Given the description of an element on the screen output the (x, y) to click on. 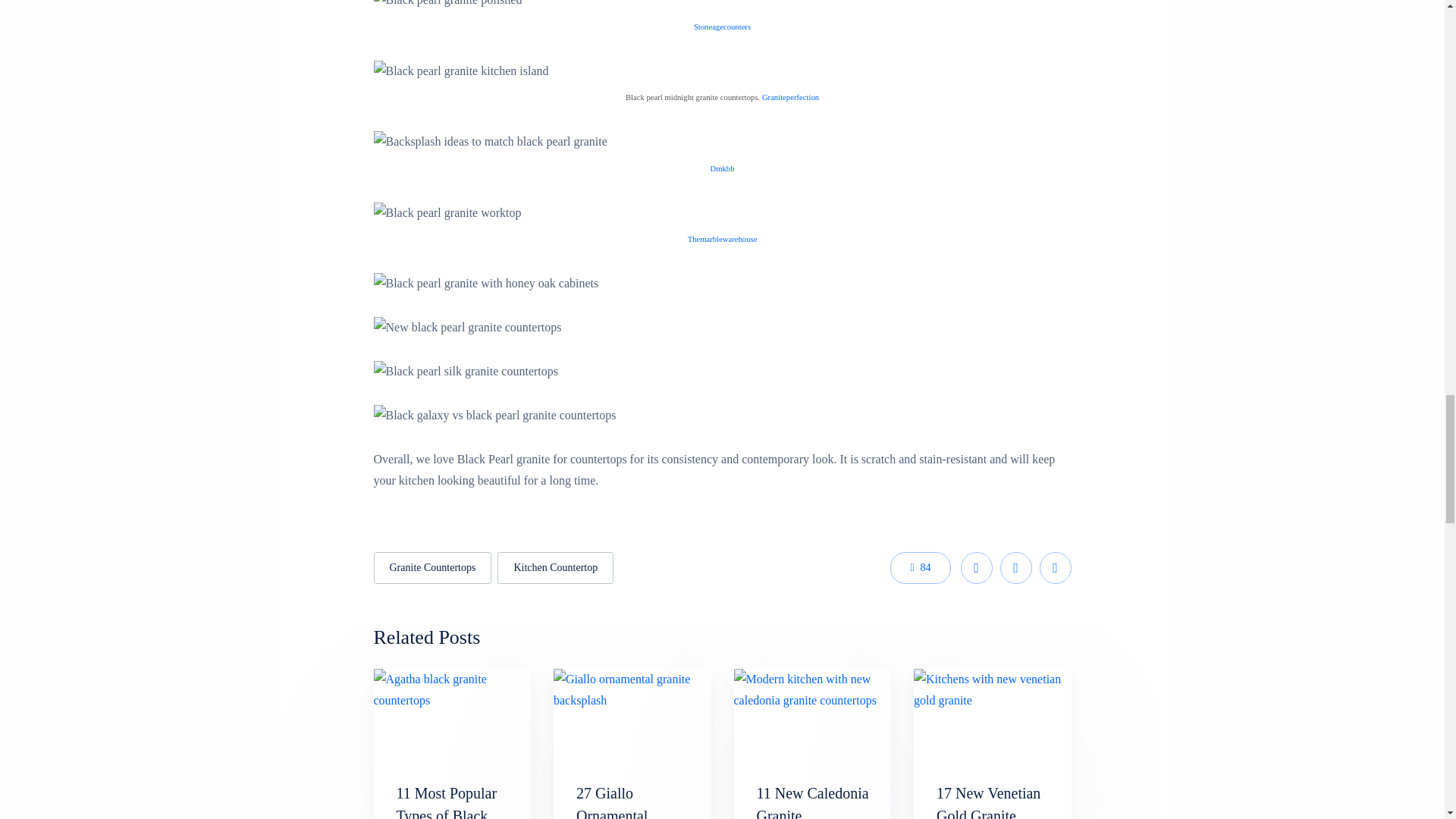
11 Most Popular Types of Black Granite Countertops (446, 801)
27 Giallo Ornamental Granite Countertops Ideas (630, 801)
27 Giallo Ornamental Granite Countertops Ideas (630, 801)
Dmkbb (722, 167)
11 New Caledonia Granite Countertops Ideas (813, 801)
Stoneagecounters (722, 25)
11 New Caledonia Granite Countertops Ideas (812, 714)
17 New Venetian Gold Granite Countertops Ideas (991, 801)
Granite Countertops (432, 567)
Black pearl granite with honey oak cabinets (485, 283)
